Given the description of an element on the screen output the (x, y) to click on. 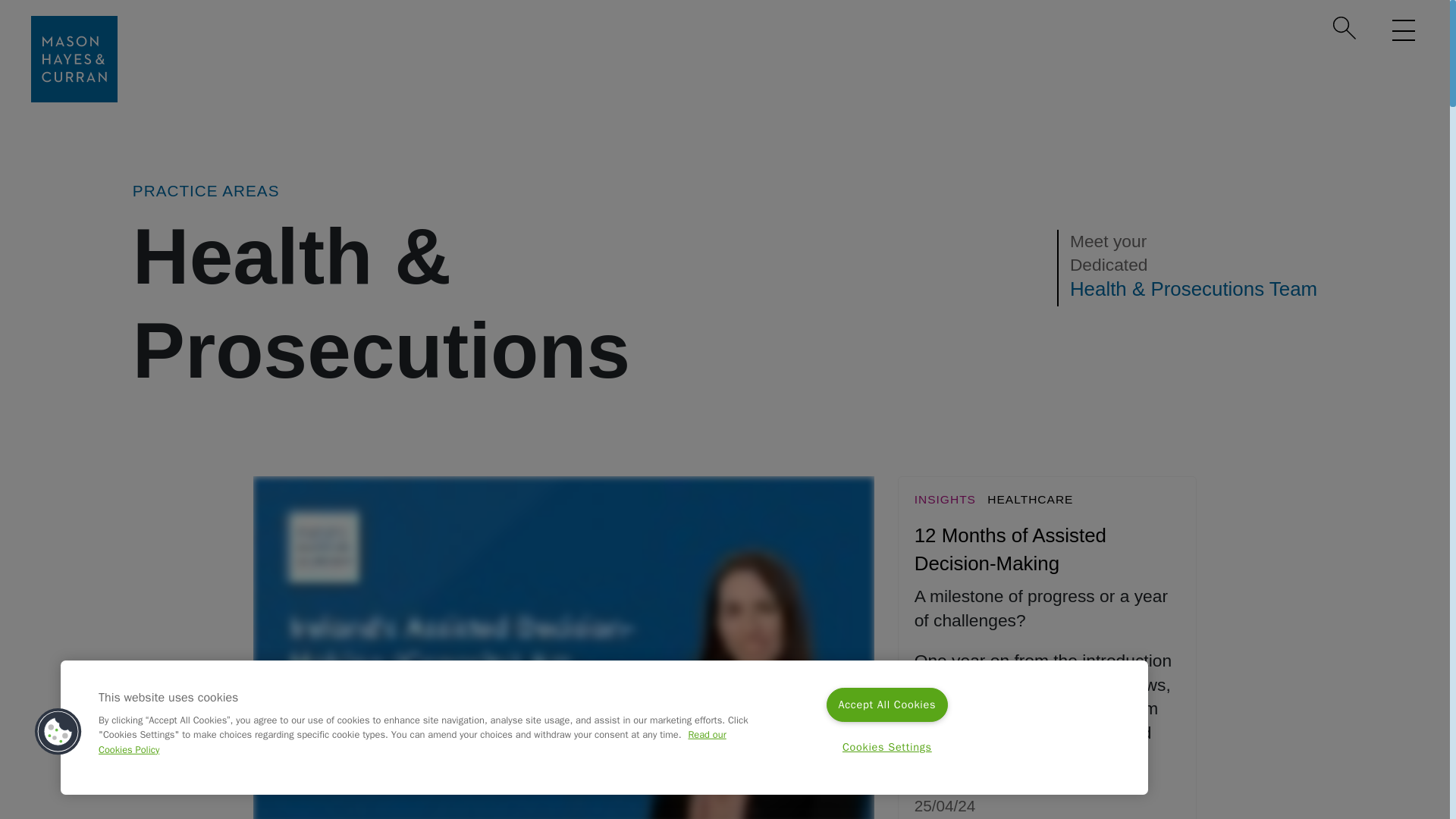
Cookies Button (57, 731)
12 Months of Assisted Decision-Making (1010, 548)
PRACTICE AREAS (205, 190)
